Given the description of an element on the screen output the (x, y) to click on. 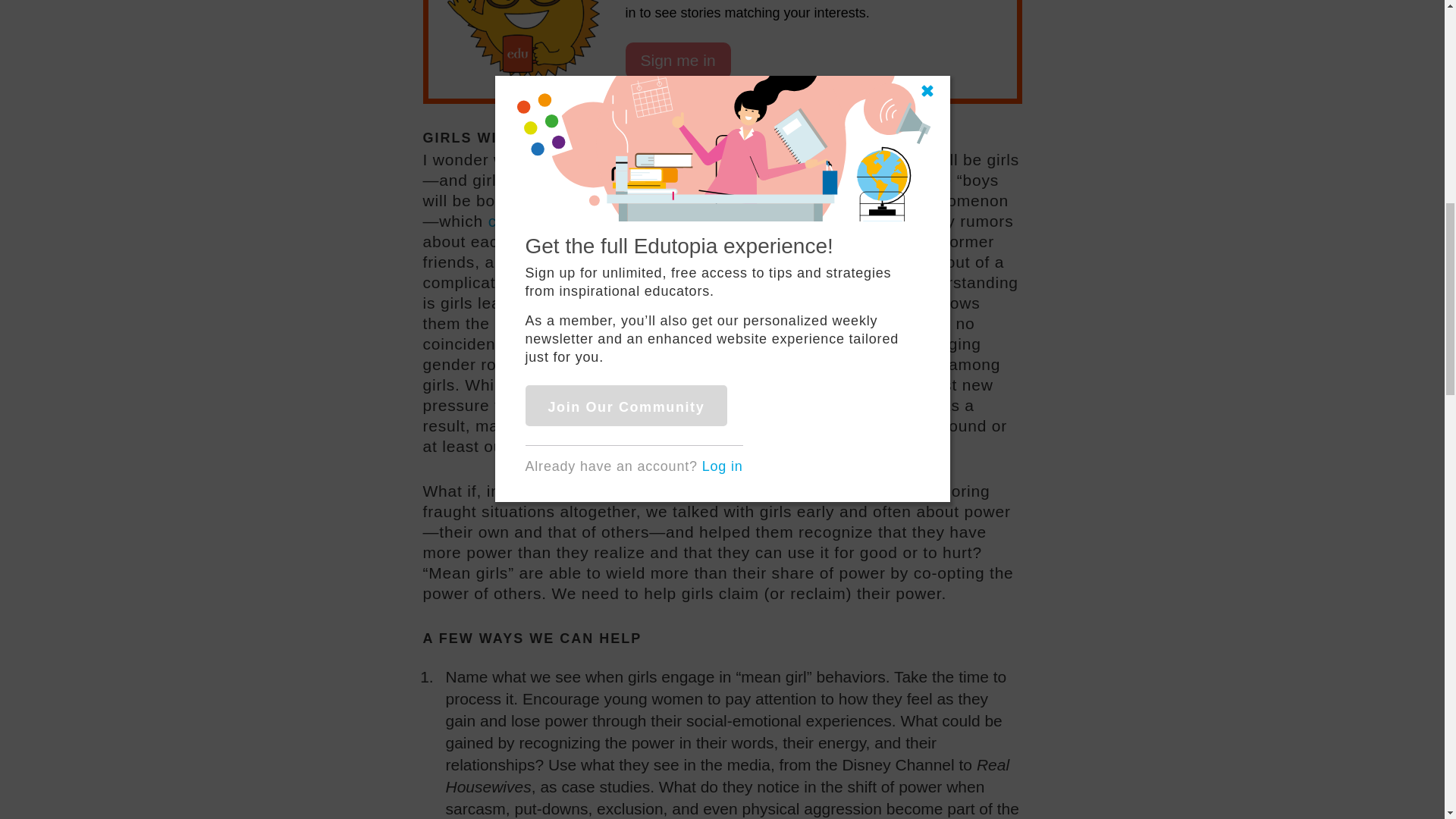
can be defined (551, 221)
Lyn Mikel Brown (802, 323)
Sign me in (677, 60)
